Given the description of an element on the screen output the (x, y) to click on. 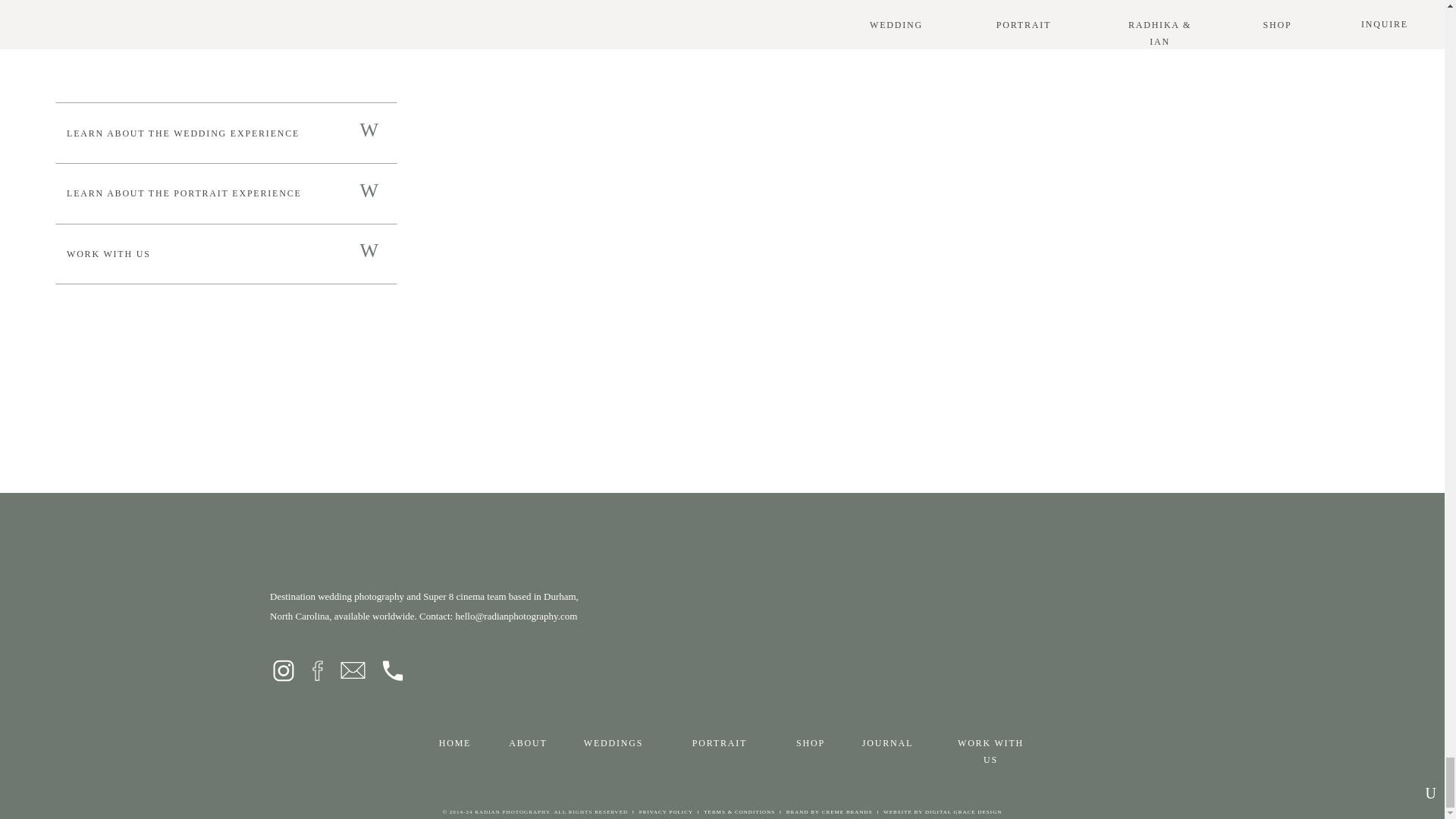
LEARN ABOUT THE WEDDING EXPERIENCE (223, 133)
HOME (453, 742)
ABOUT (527, 742)
JOURNAL (886, 742)
W (362, 194)
U (1400, 793)
WEDDINGS (613, 742)
WORK WITH US (990, 742)
PORTRAIT (719, 742)
LEARN ABOUT THE PORTRAIT EXPERIENCE (197, 194)
WORK WITH US (223, 253)
SHOP (809, 742)
W (362, 253)
W (362, 133)
